Given the description of an element on the screen output the (x, y) to click on. 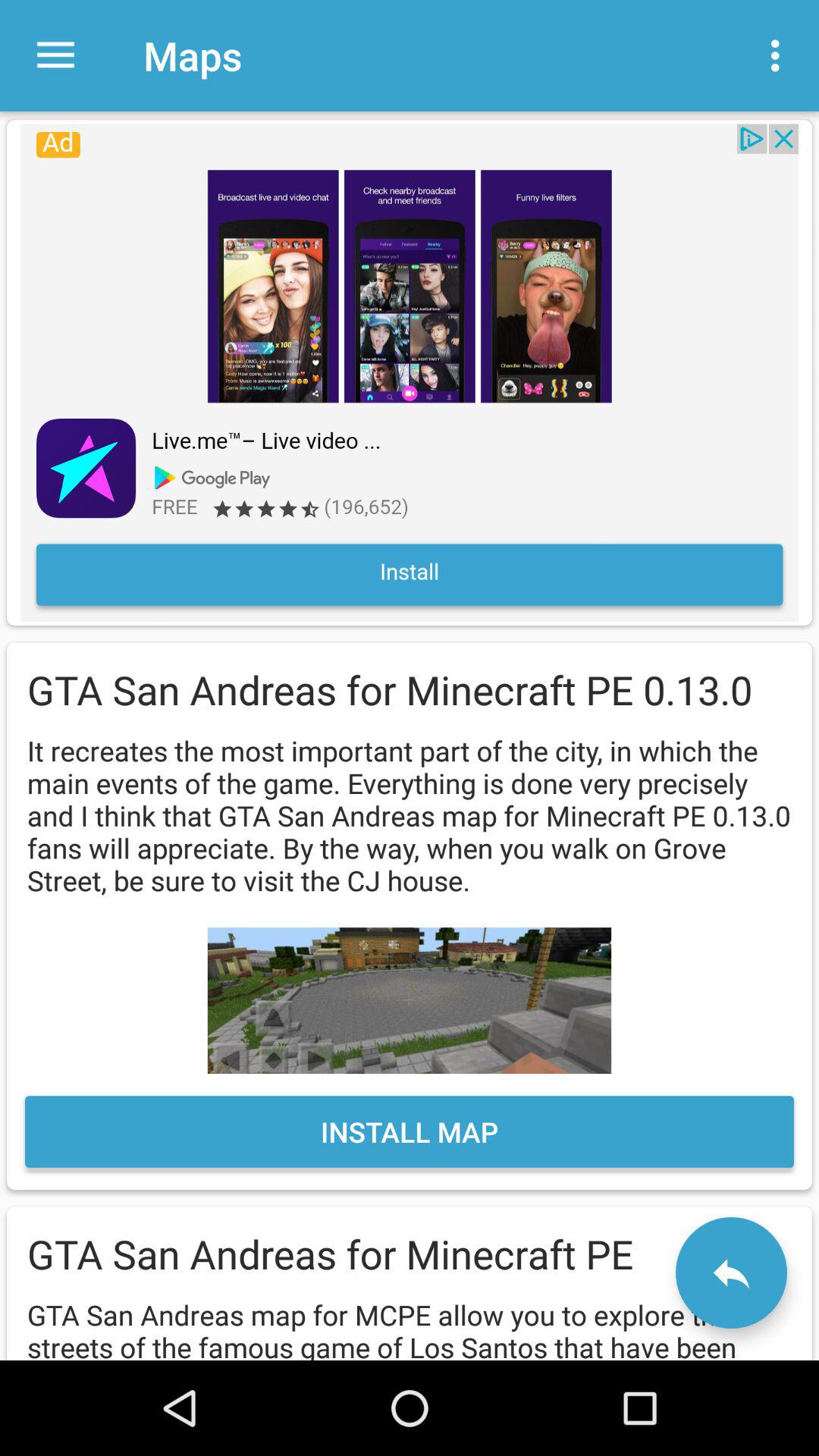
go back (731, 1272)
